Given the description of an element on the screen output the (x, y) to click on. 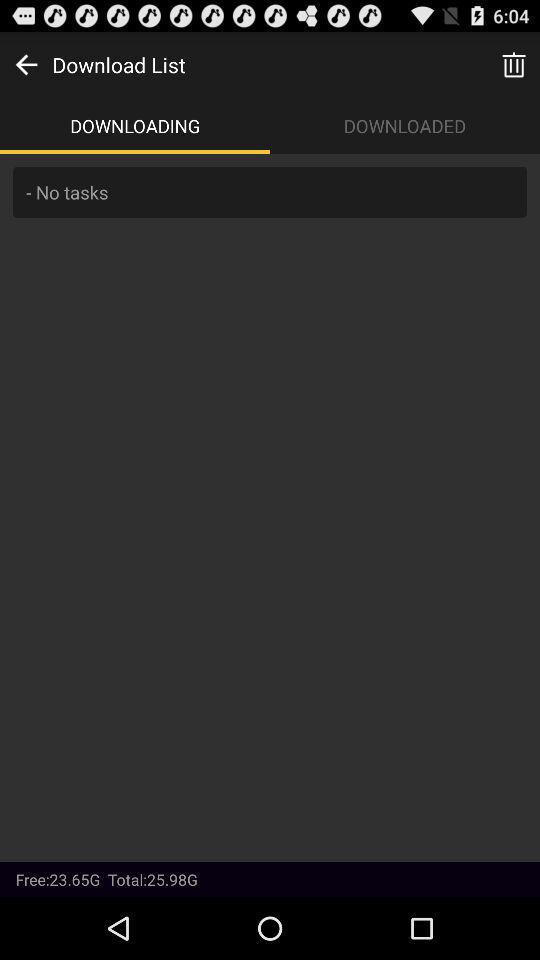
delete download list (513, 64)
